Given the description of an element on the screen output the (x, y) to click on. 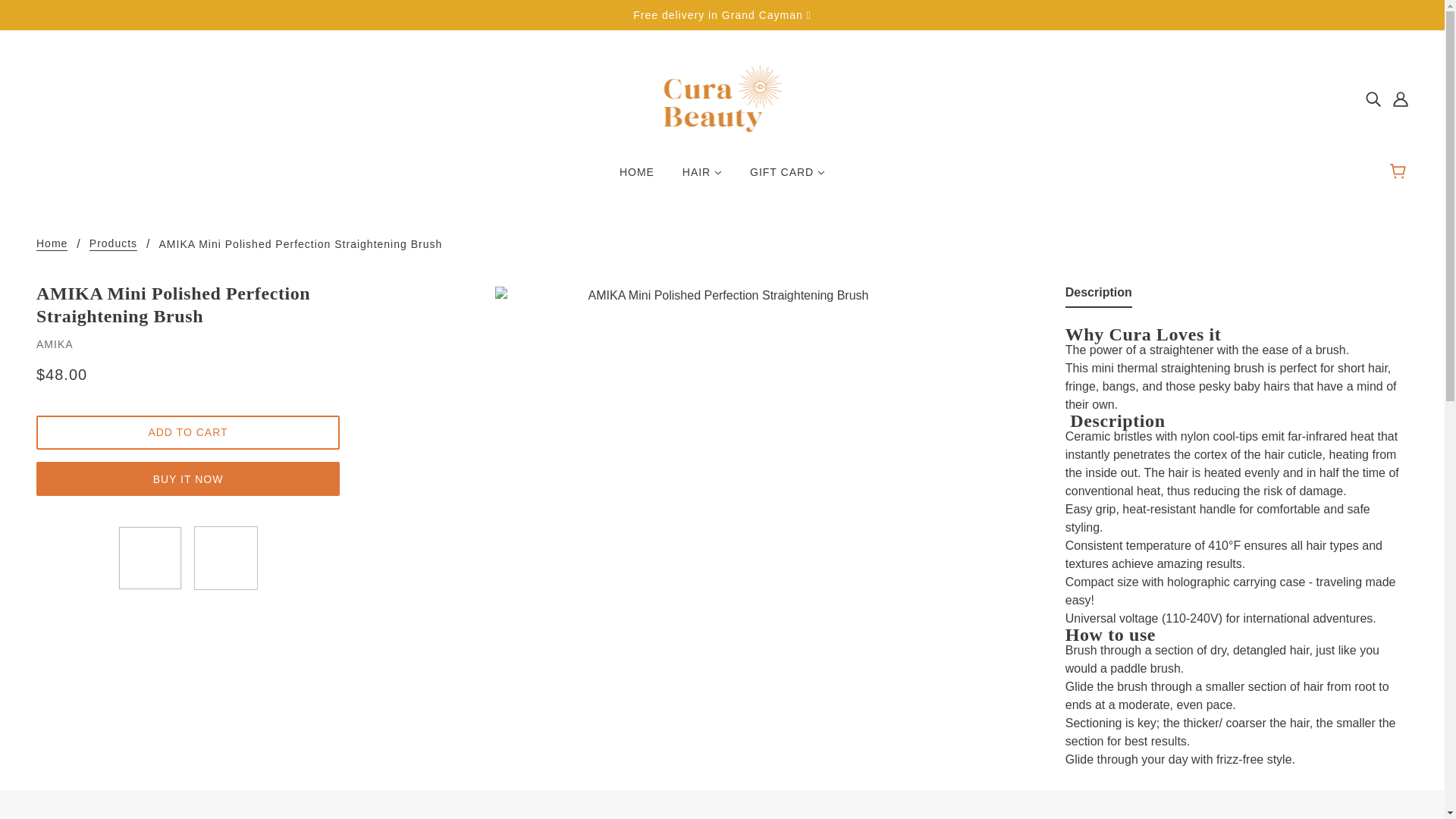
Home (51, 244)
AMIKA (55, 344)
HAIR (701, 177)
GIFT CARD (787, 177)
HOME (636, 177)
Products (112, 244)
CURA Beauty (721, 97)
